Given the description of an element on the screen output the (x, y) to click on. 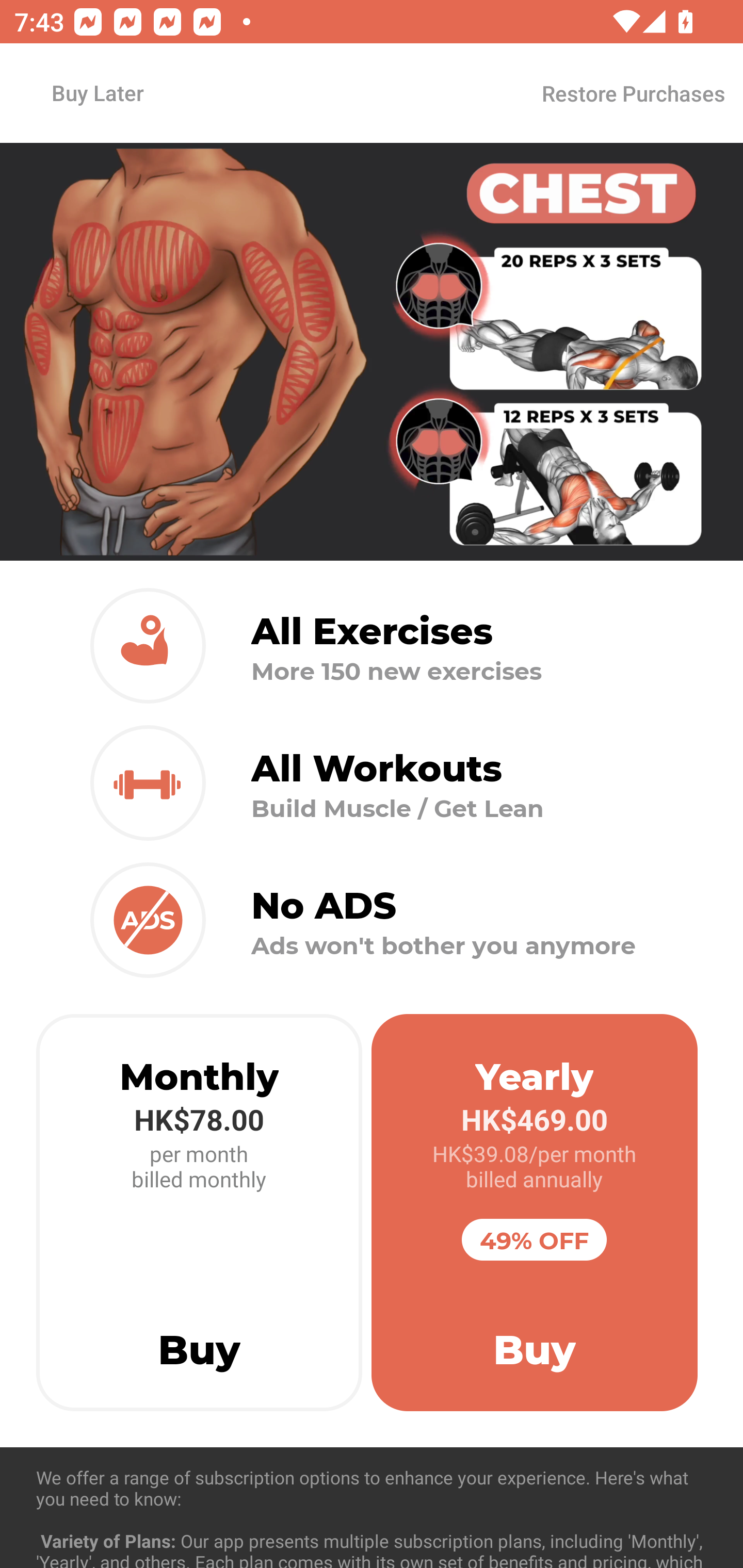
Restore Purchases (632, 92)
Buy Later (96, 92)
Monthly HK$78.00 per month
billed monthly Buy (199, 1212)
